Given the description of an element on the screen output the (x, y) to click on. 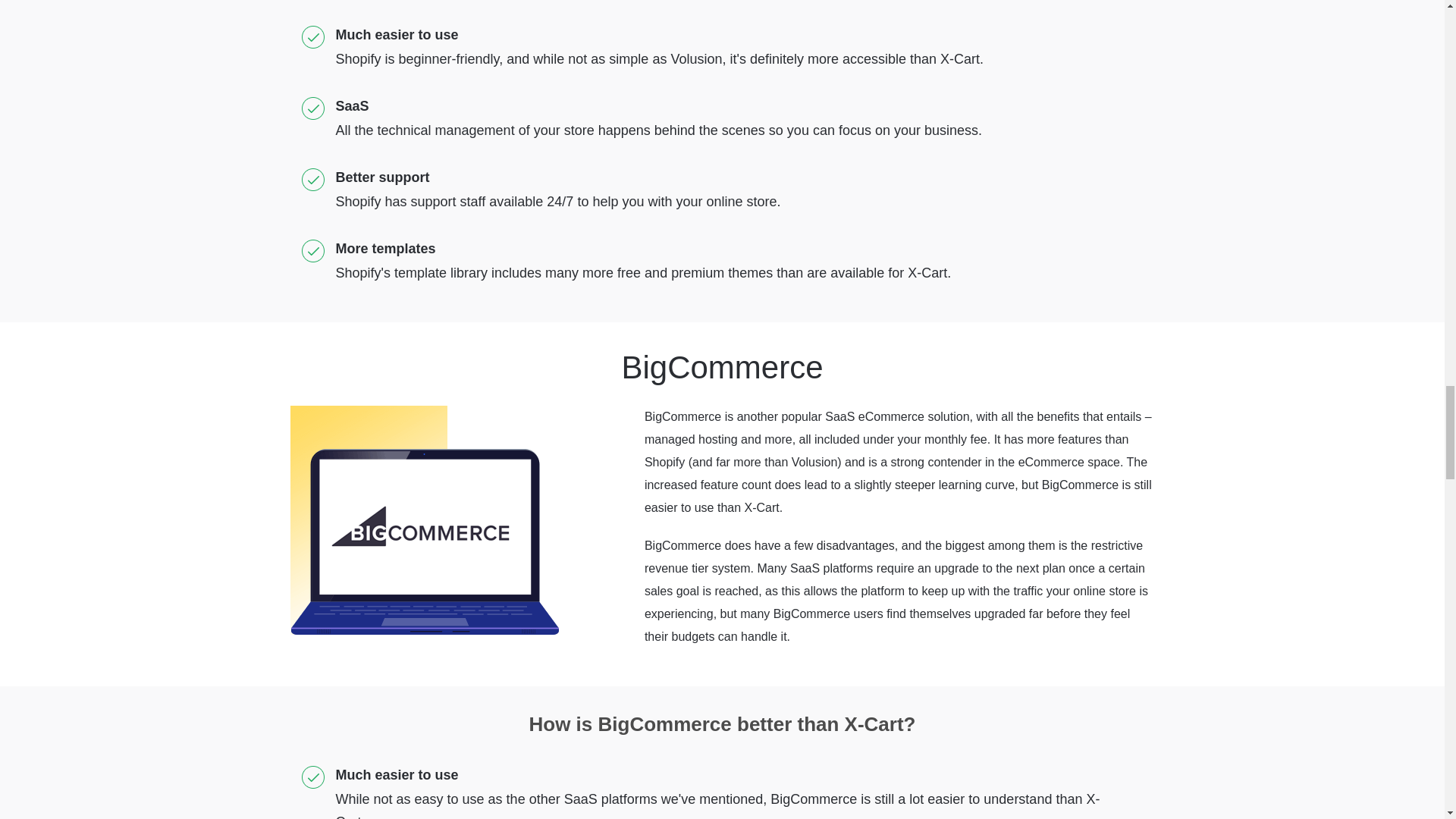
BigCommerce (423, 519)
